Given the description of an element on the screen output the (x, y) to click on. 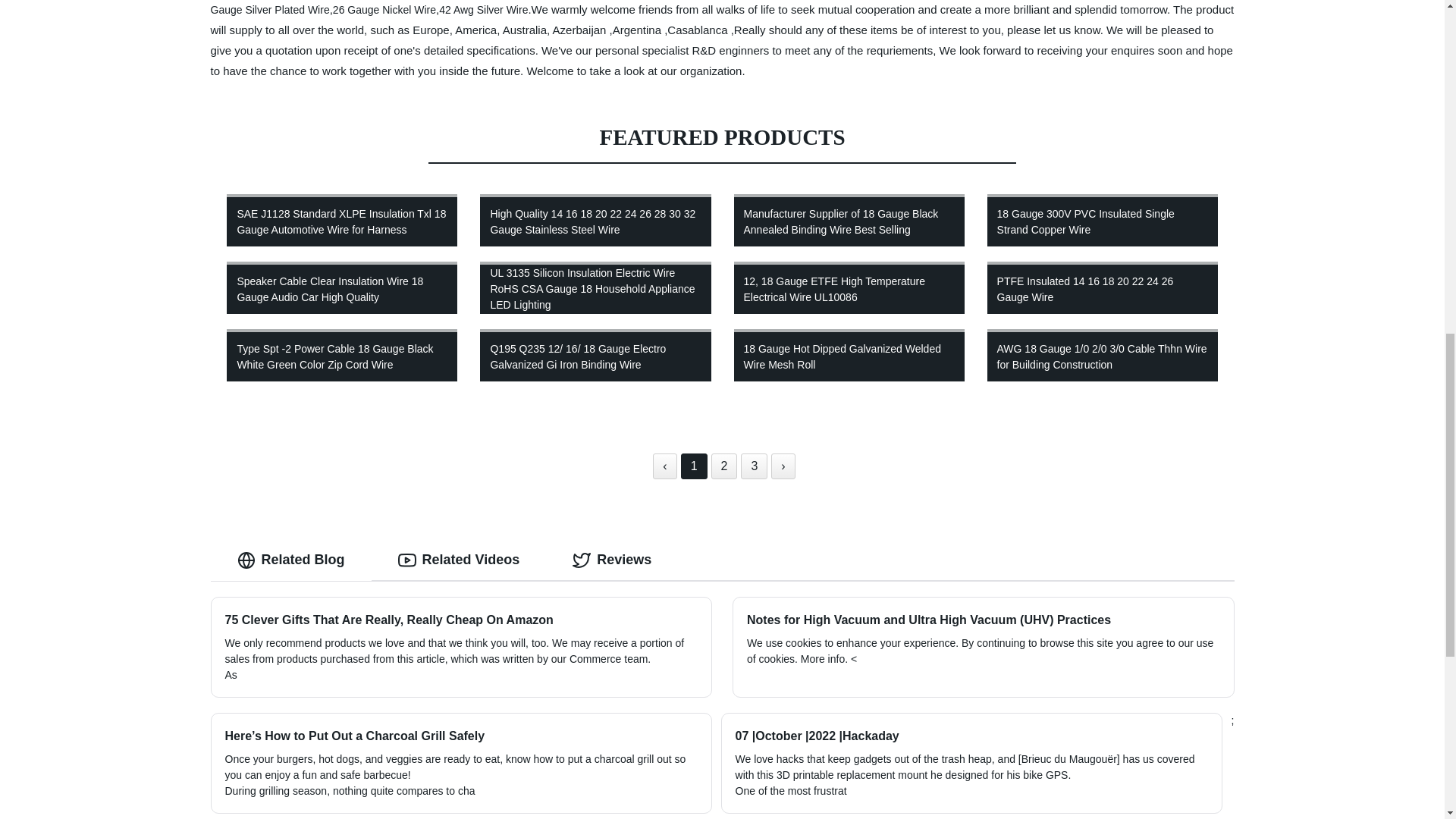
42 Awg Silver Wire (483, 9)
18 Gauge Silver Plated Wire (710, 7)
26 Gauge Nickel Wire (384, 9)
42 Awg Silver Wire (483, 9)
26 Gauge Nickel Wire (384, 9)
18 Gauge 300V PVC Insulated Single Strand Copper Wire (1101, 219)
